Given the description of an element on the screen output the (x, y) to click on. 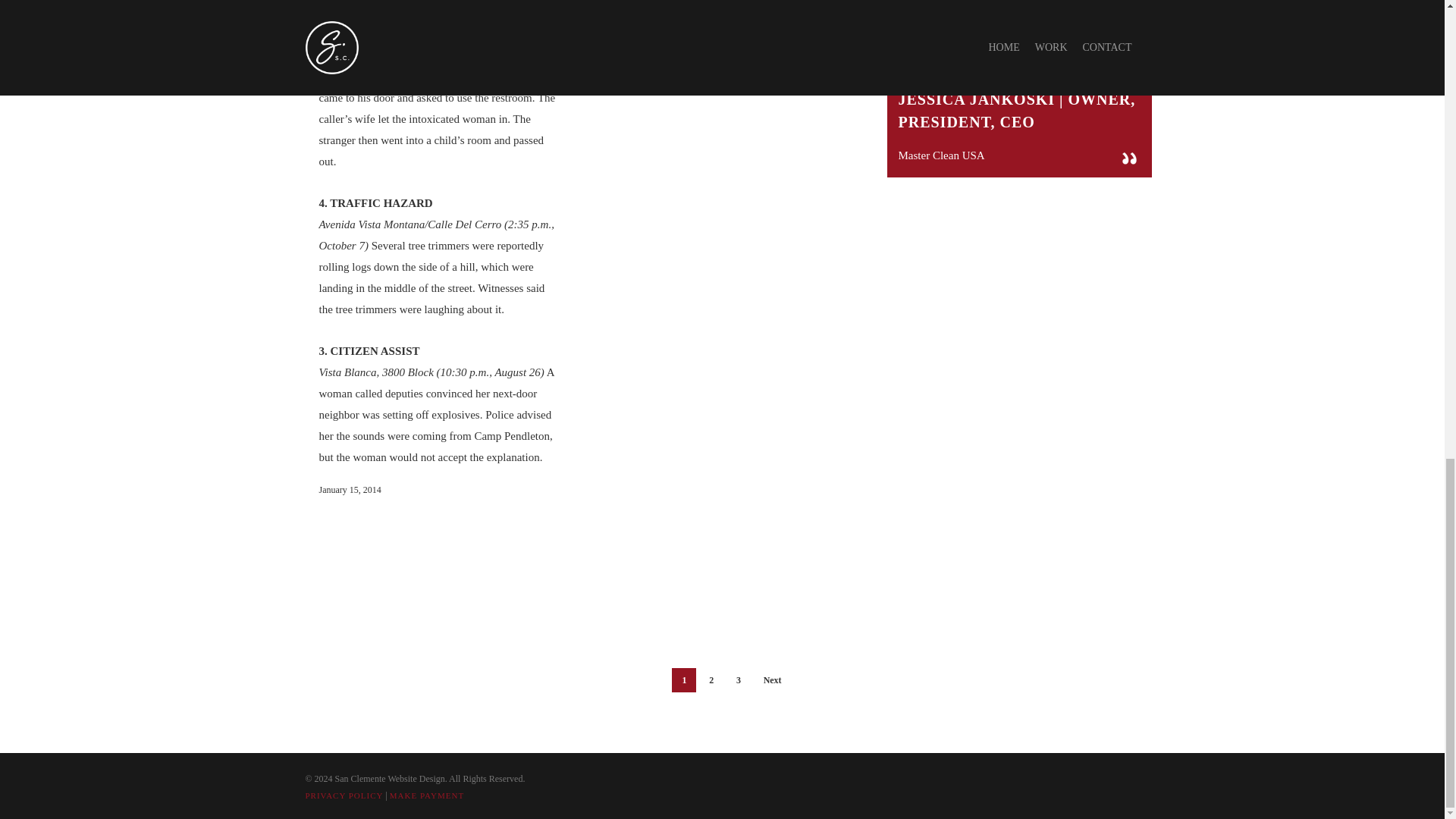
3 (738, 680)
Next (773, 680)
2 (710, 680)
MAKE PAYMENT (427, 795)
PRIVACY POLICY (343, 795)
